Given the description of an element on the screen output the (x, y) to click on. 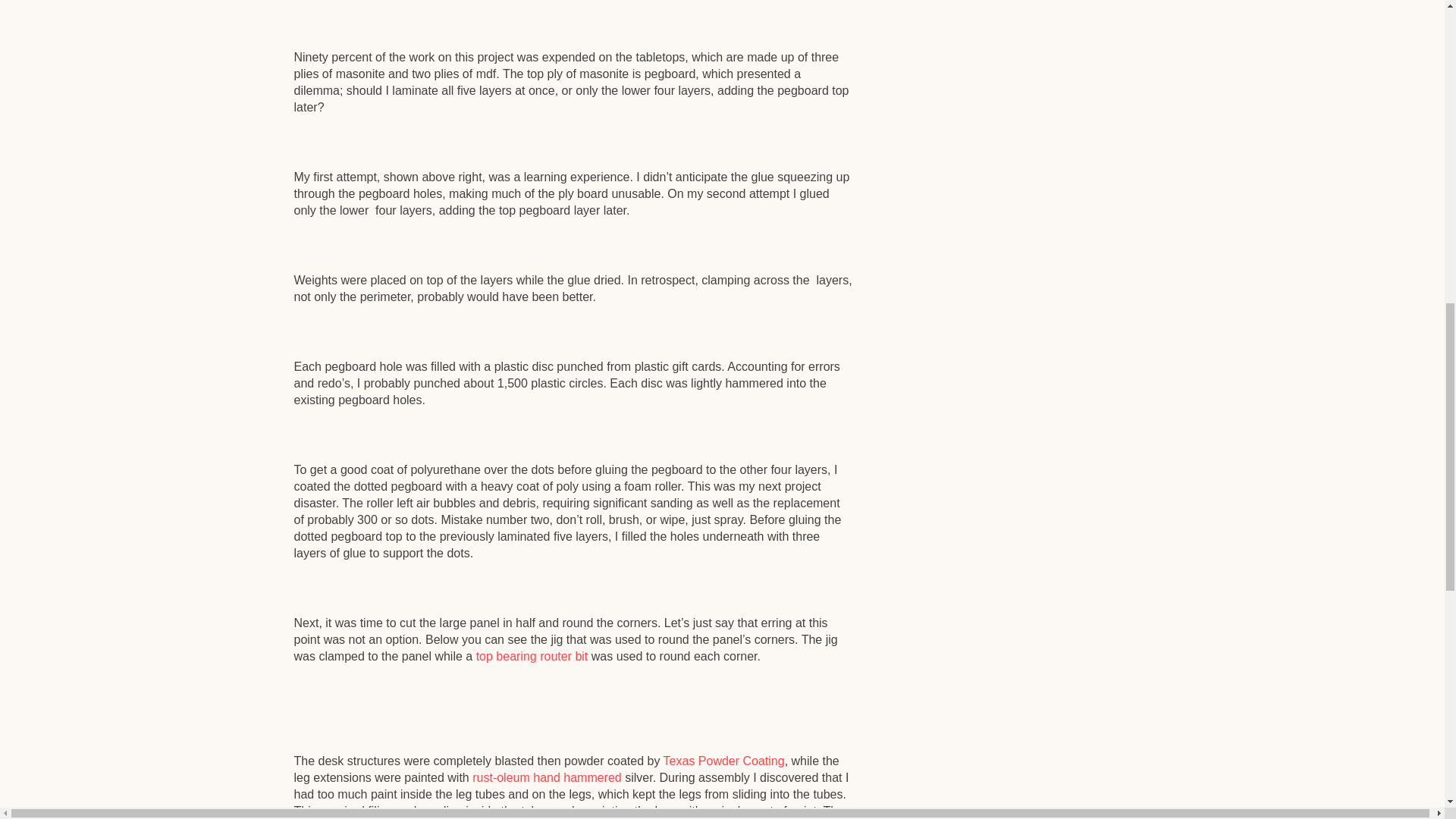
top bearing router bit (532, 656)
Texas Powder Coating (723, 760)
rust-oleum hand hammered (546, 777)
